Given the description of an element on the screen output the (x, y) to click on. 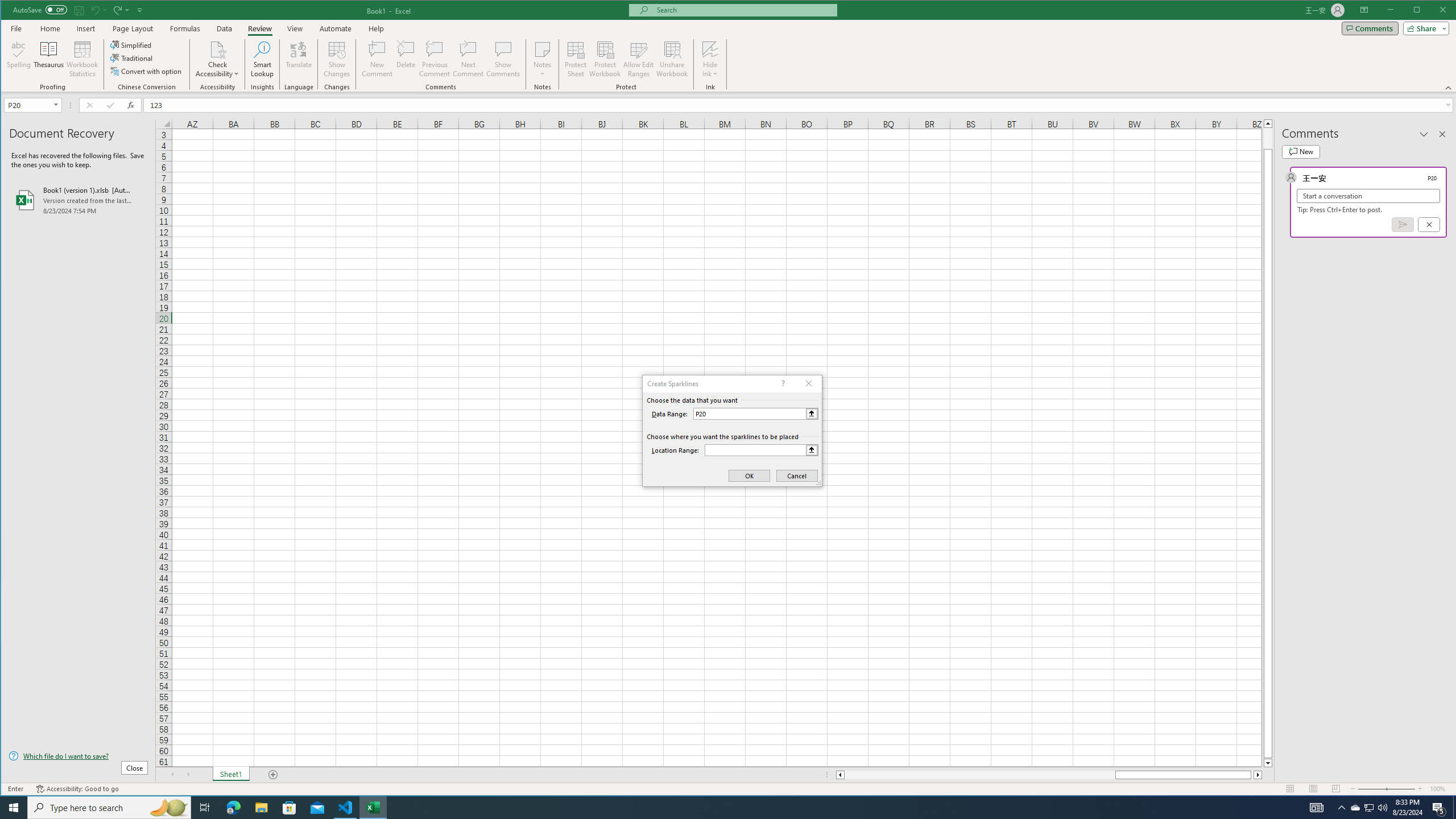
Next Comment (467, 59)
Class: MsoCommandBar (728, 45)
Simplified (132, 44)
Thesaurus... (48, 59)
New Comment (377, 59)
Unshare Workbook (671, 59)
Check Accessibility (217, 59)
Allow Edit Ranges (638, 59)
Show Changes (335, 59)
